Given the description of an element on the screen output the (x, y) to click on. 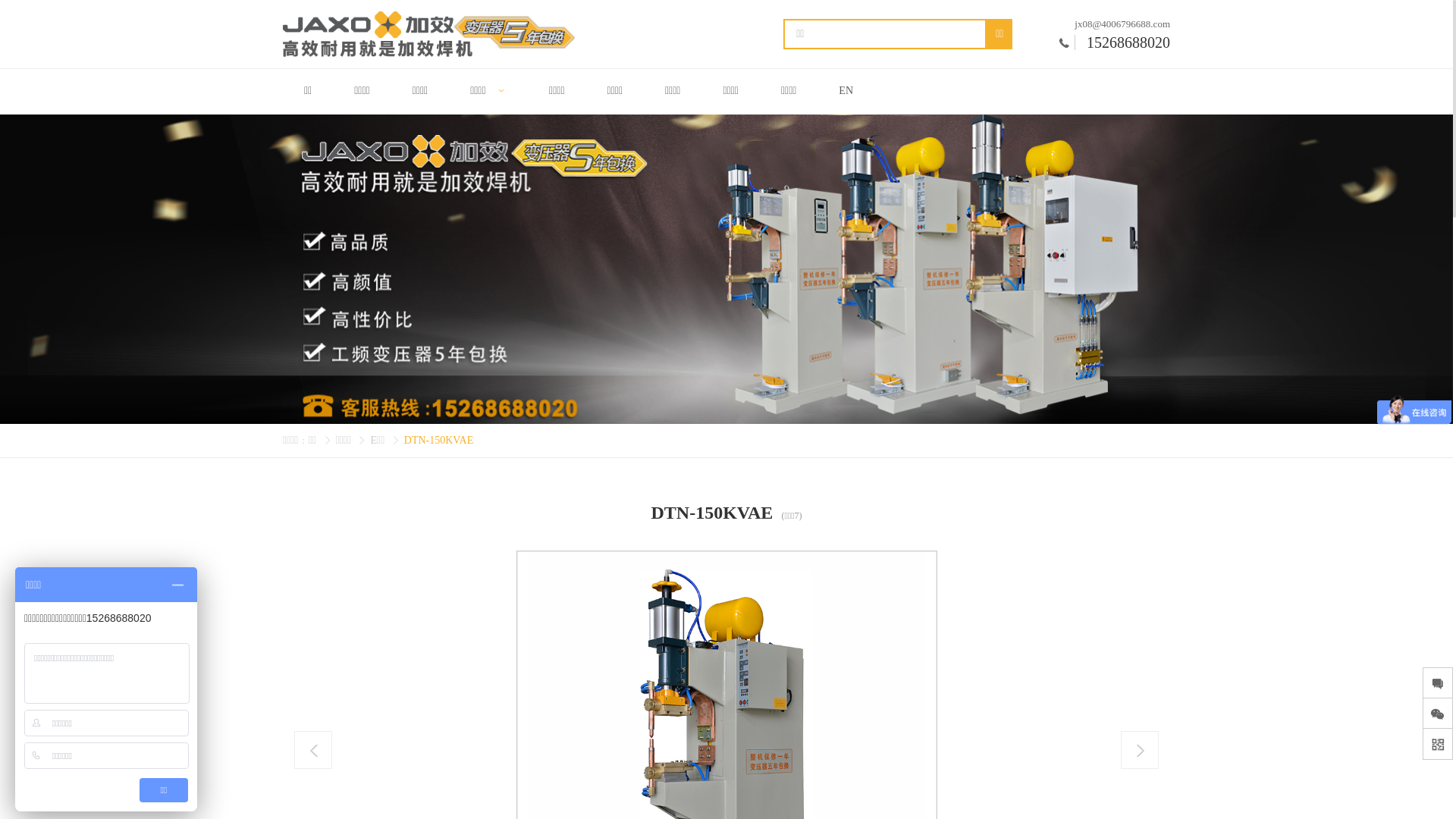
DTN-150KVAE Element type: text (438, 439)
EN Element type: text (845, 91)
jx08@4006796688.com Element type: text (1122, 23)
15268688020 Element type: text (1122, 42)
